Given the description of an element on the screen output the (x, y) to click on. 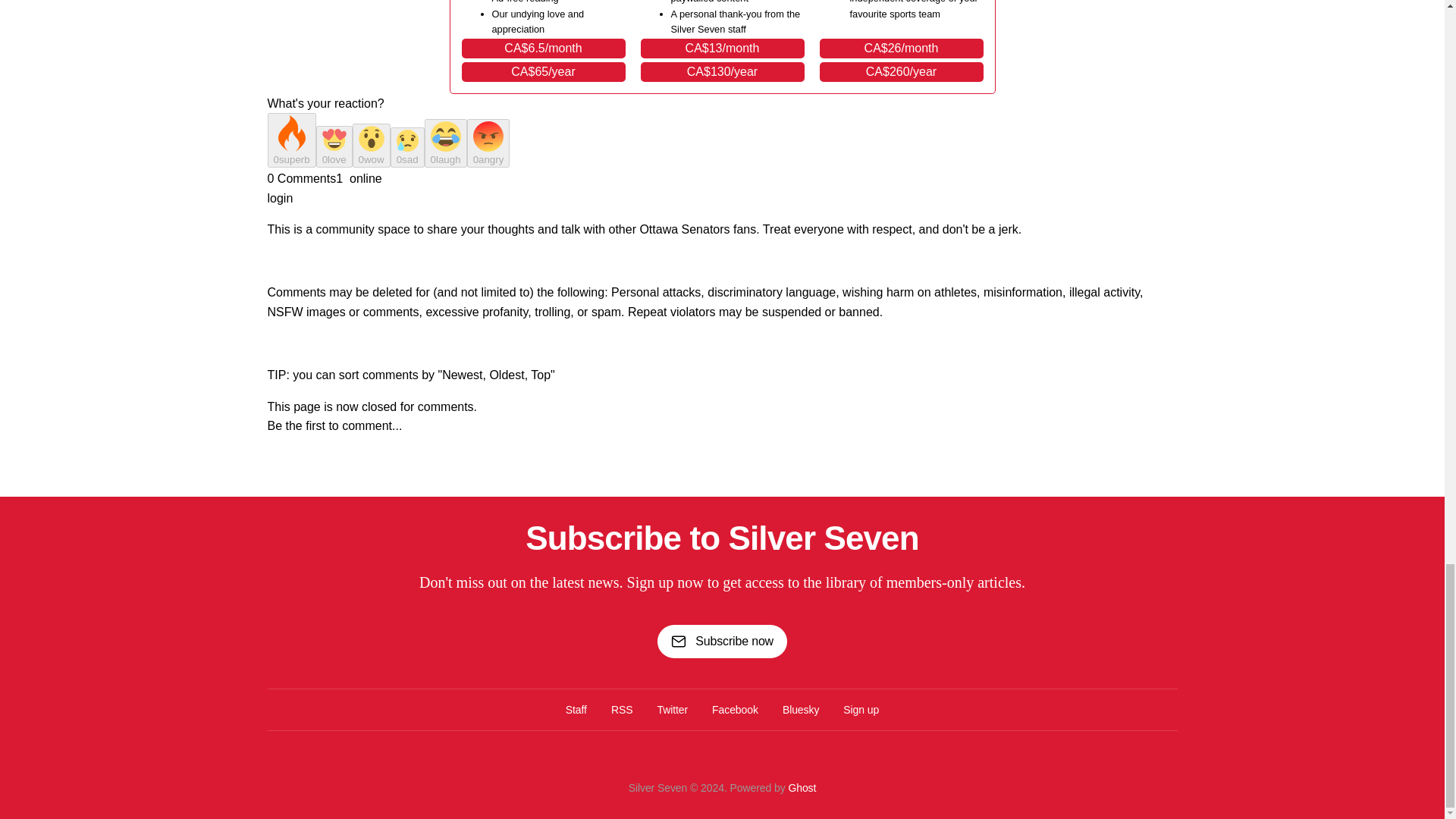
Bluesky (800, 709)
Twitter (671, 709)
Ghost (801, 787)
Staff (576, 709)
RSS (622, 709)
Facebook (734, 709)
Subscribe now (722, 641)
Sign up (861, 709)
